Given the description of an element on the screen output the (x, y) to click on. 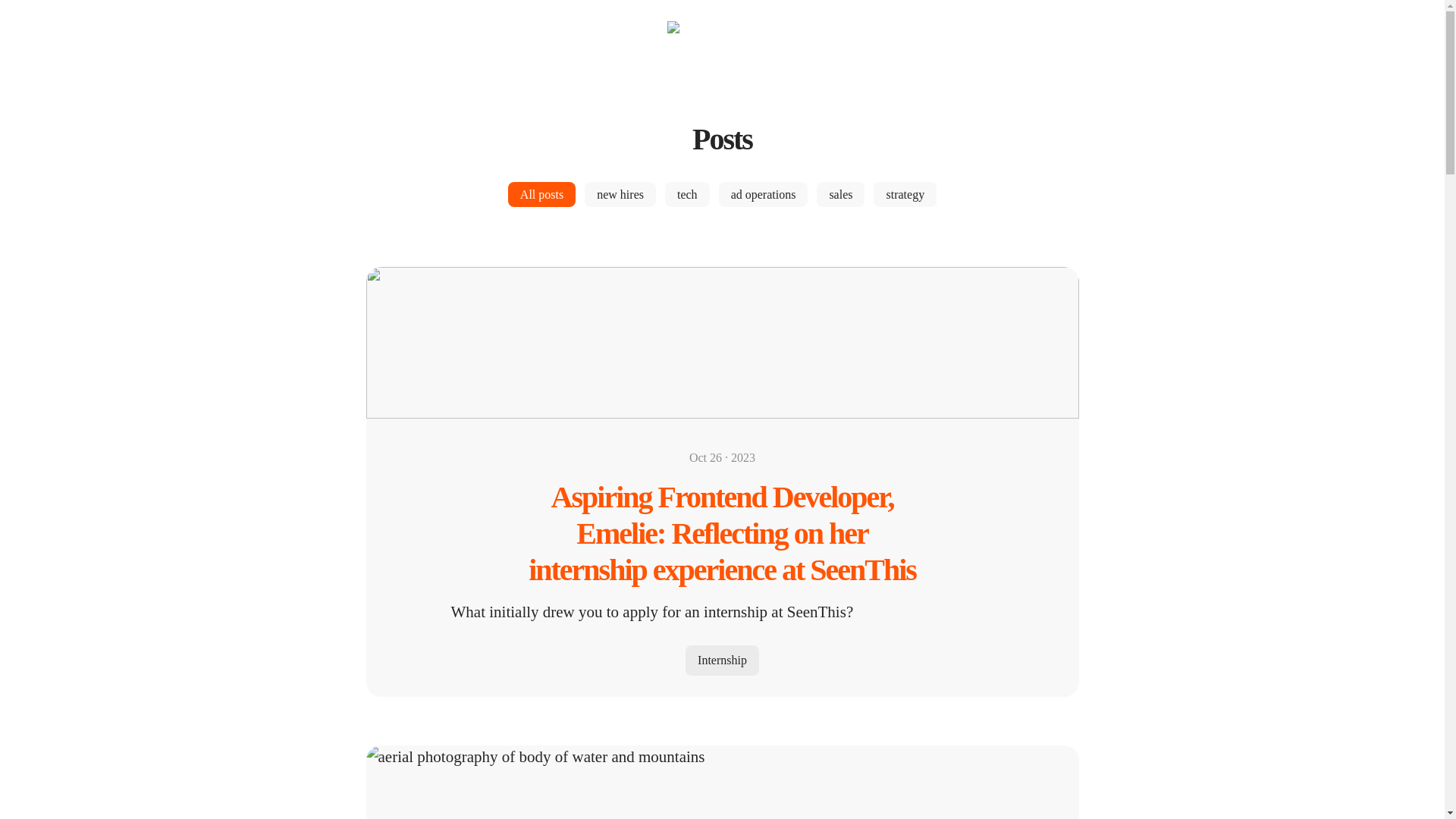
Share page (1414, 30)
sales (840, 194)
ad operations (763, 194)
new hires (620, 194)
All posts (541, 194)
Career menu (73, 30)
strategy (904, 194)
tech (687, 194)
CAREER MENU (73, 30)
